Given the description of an element on the screen output the (x, y) to click on. 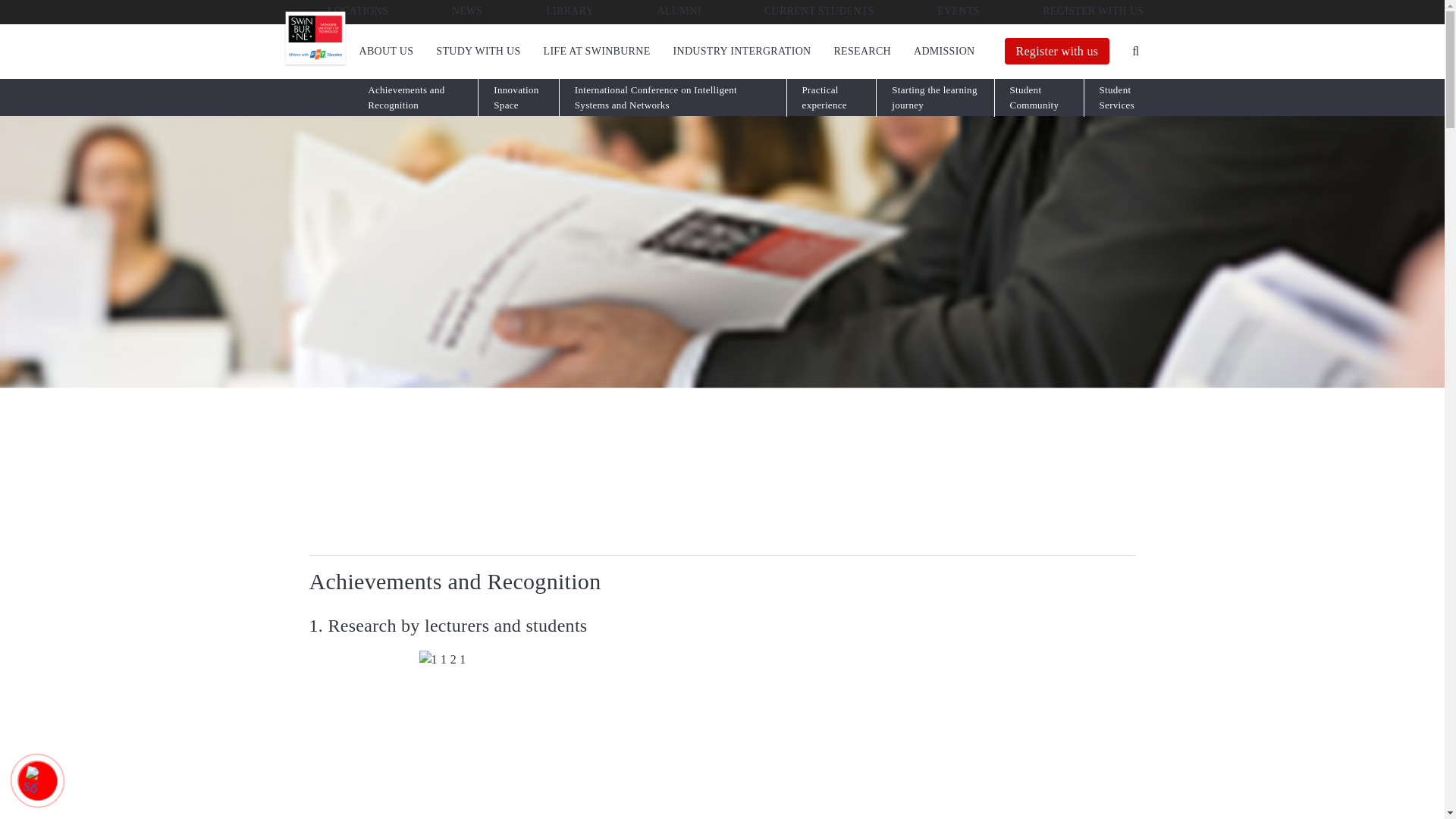
RESEARCH (861, 50)
LIFE AT SWINBURNE (596, 50)
CURRENT STUDENTS (817, 11)
STUDY WITH US (477, 50)
EVENTS (956, 11)
LOCATIONS (356, 11)
REGISTER WITH US (1090, 11)
ADMISSION (944, 50)
INDUSTRY INTERGRATION (741, 50)
ALUMNI (676, 11)
NEWS (464, 11)
1 (722, 734)
LIBRARY (567, 11)
ABOUT US (386, 50)
